Given the description of an element on the screen output the (x, y) to click on. 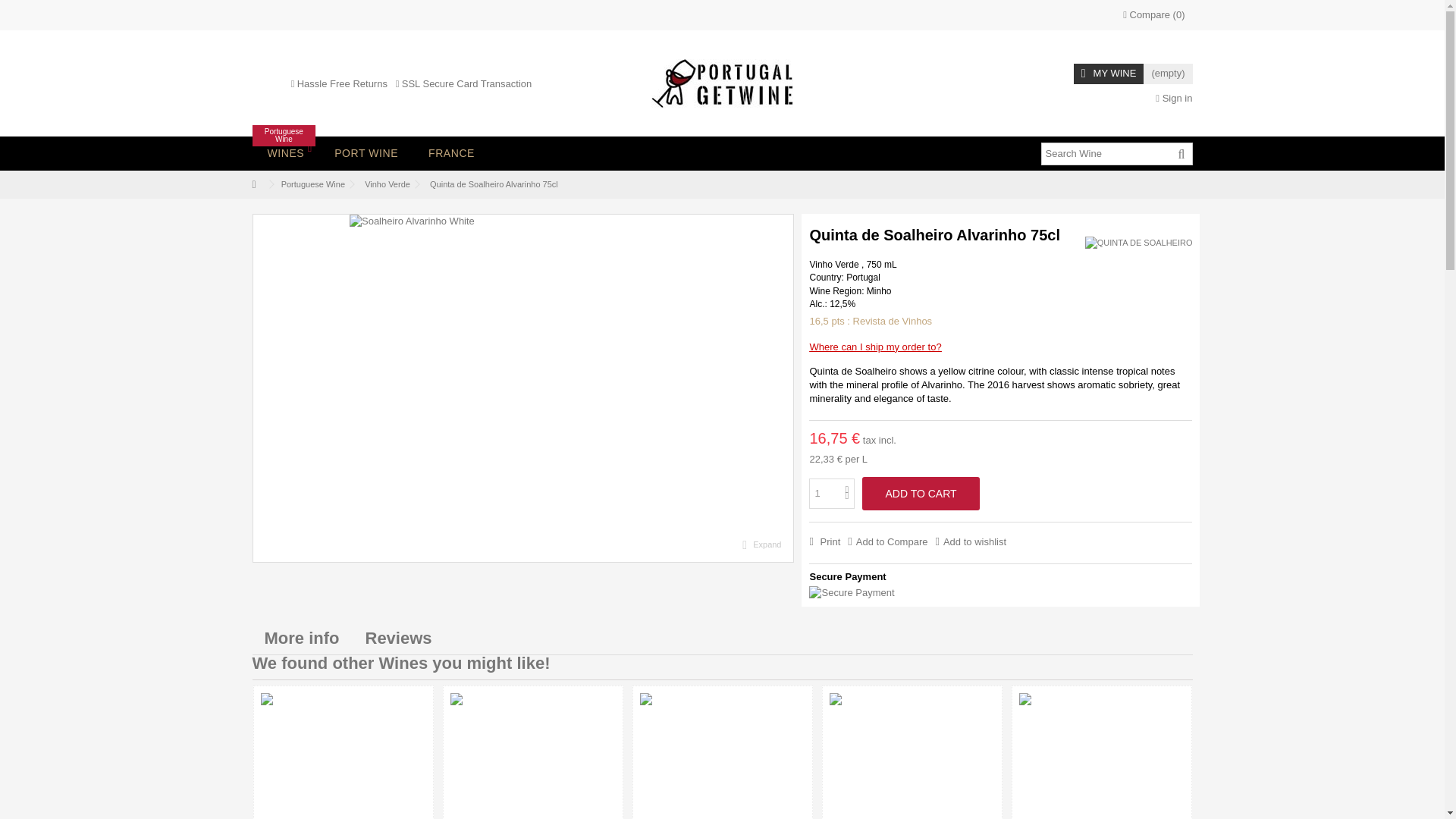
Sign in (1174, 98)
Login to your customer account (1174, 98)
1 (831, 493)
View my shopping cart (284, 153)
